Given the description of an element on the screen output the (x, y) to click on. 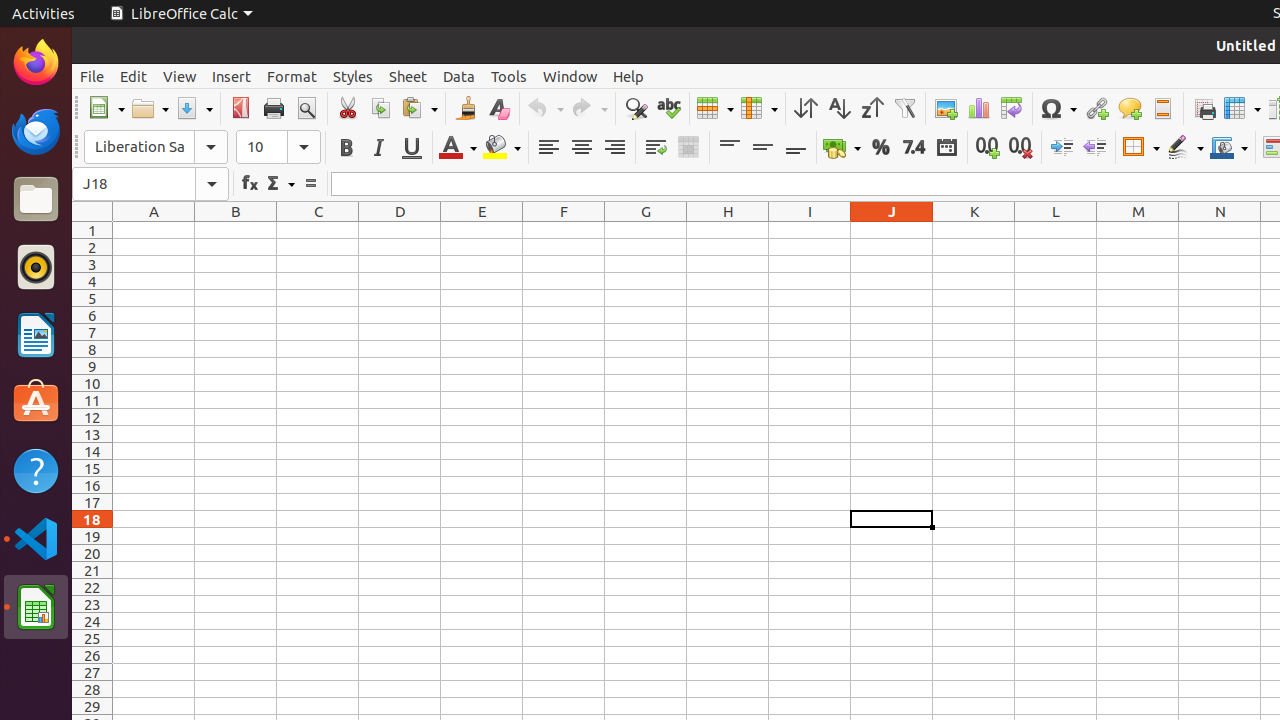
Font Color Element type: push-button (458, 147)
Print Area Element type: push-button (1203, 108)
Font Size Element type: panel (278, 147)
Edit Element type: menu (133, 76)
